Given the description of an element on the screen output the (x, y) to click on. 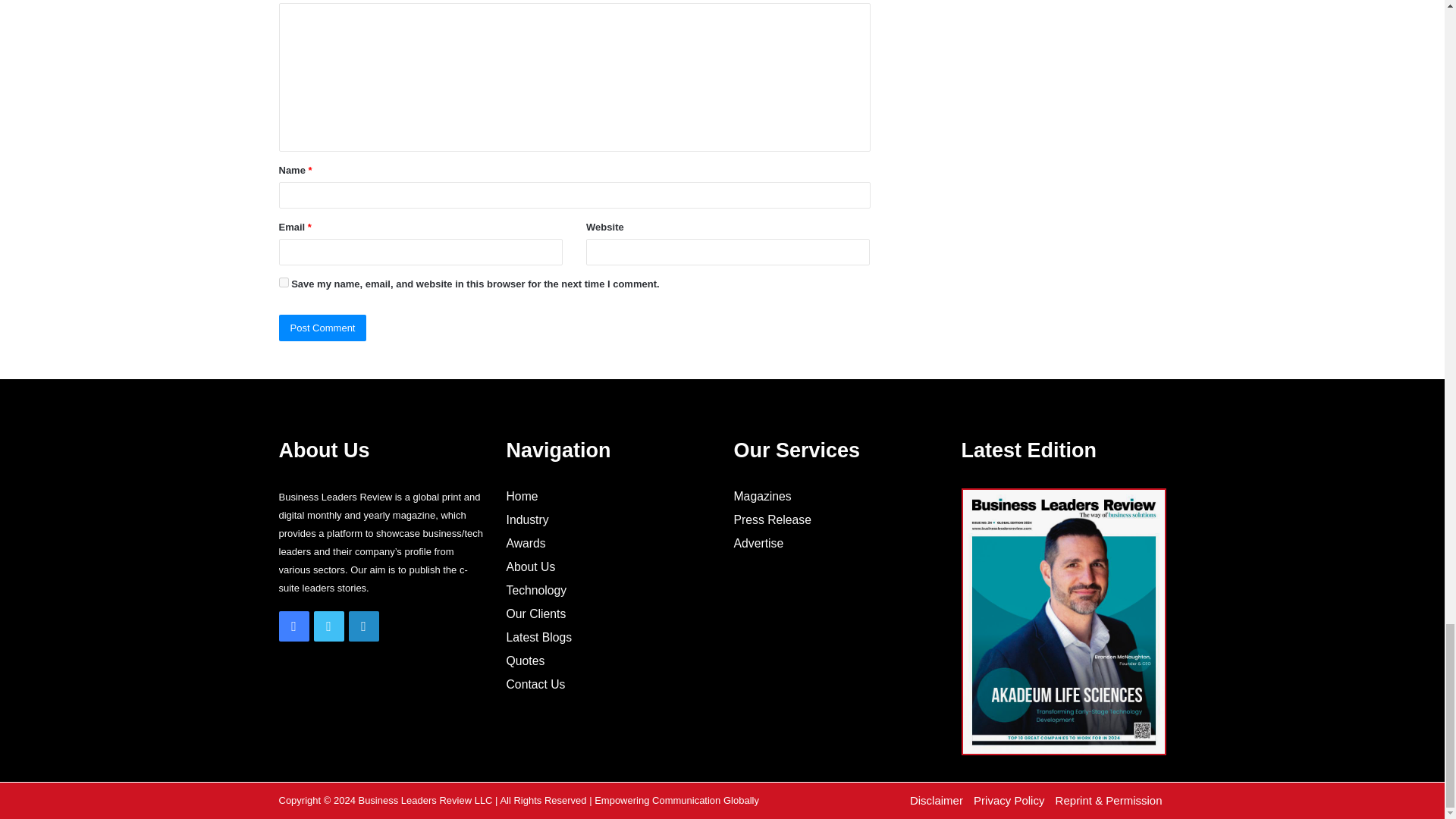
yes (283, 282)
Post Comment (322, 327)
